Given the description of an element on the screen output the (x, y) to click on. 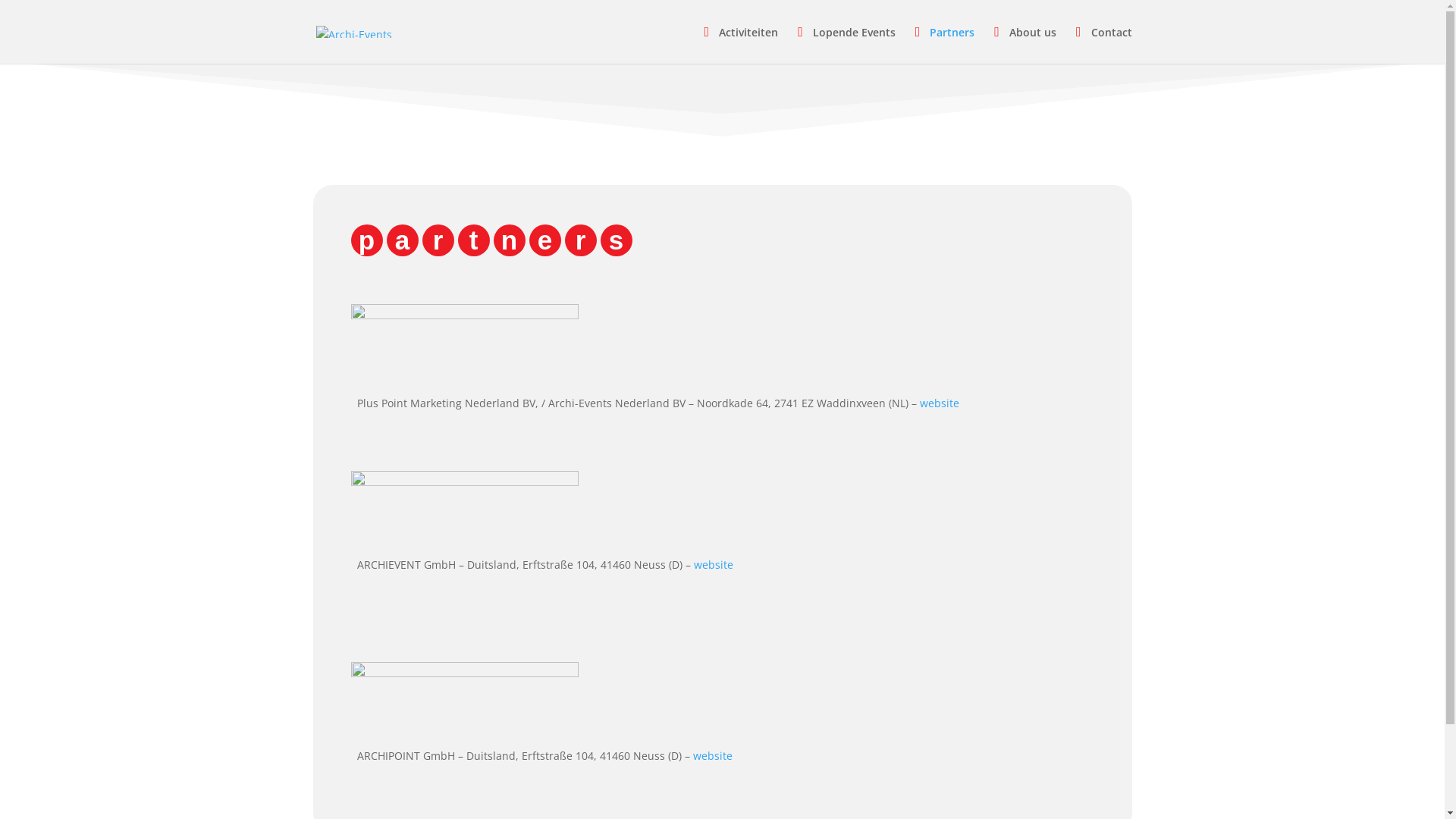
website Element type: text (712, 564)
Partners Element type: text (945, 44)
Activiteiten Element type: text (741, 44)
website Element type: text (712, 755)
About us Element type: text (1025, 44)
Lopende Events Element type: text (846, 44)
website Element type: text (938, 402)
Contact Element type: text (1104, 44)
